Given the description of an element on the screen output the (x, y) to click on. 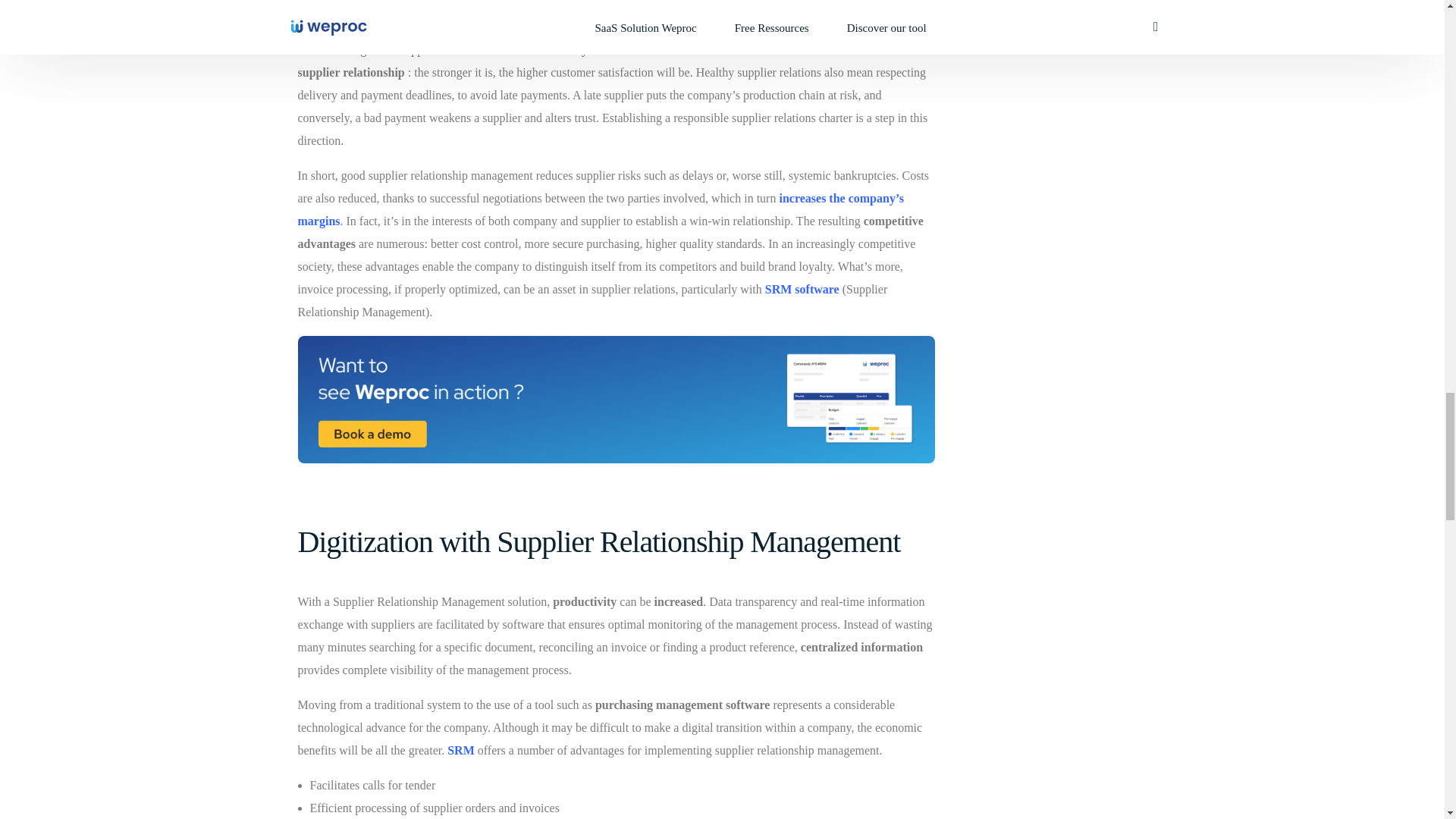
Good supplier relations (599, 16)
SRM software (802, 288)
SRM (460, 749)
